Given the description of an element on the screen output the (x, y) to click on. 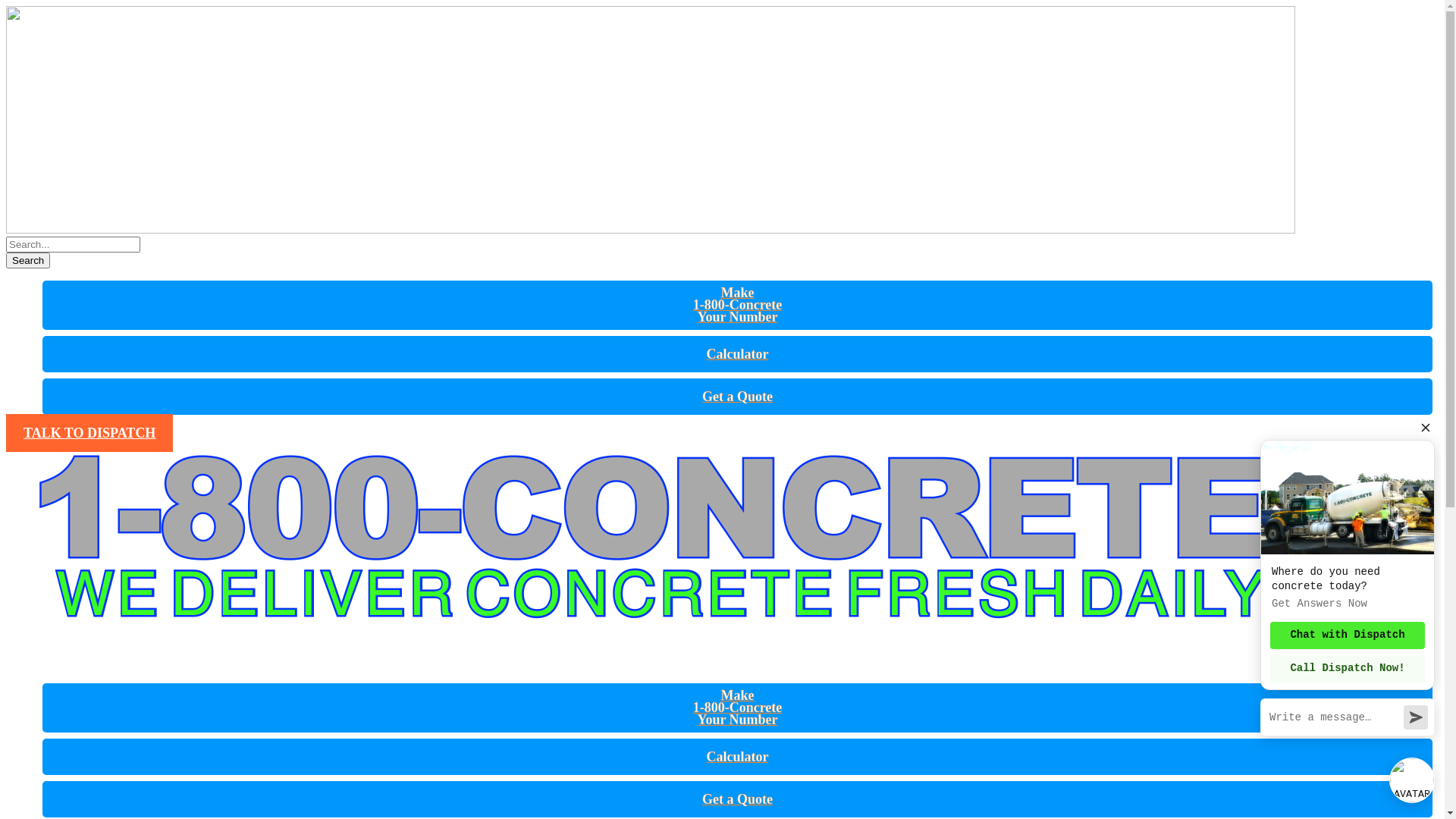
Calculator Element type: text (737, 353)
Make
1-800-Concrete
Your Number Element type: text (737, 707)
Get a Quote Element type: text (737, 396)
TALK TO DISPATCH Element type: text (89, 432)
Get a Quote Element type: text (737, 798)
Make
1-800-Concrete
Your Number Element type: text (737, 304)
appleconcretelogogreen1 Element type: hover (650, 119)
LiveChat chat widget Element type: hover (1344, 613)
Search Element type: text (28, 260)
appleconcretelogogreen1 Element type: hover (650, 554)
Calculator Element type: text (737, 756)
